Given the description of an element on the screen output the (x, y) to click on. 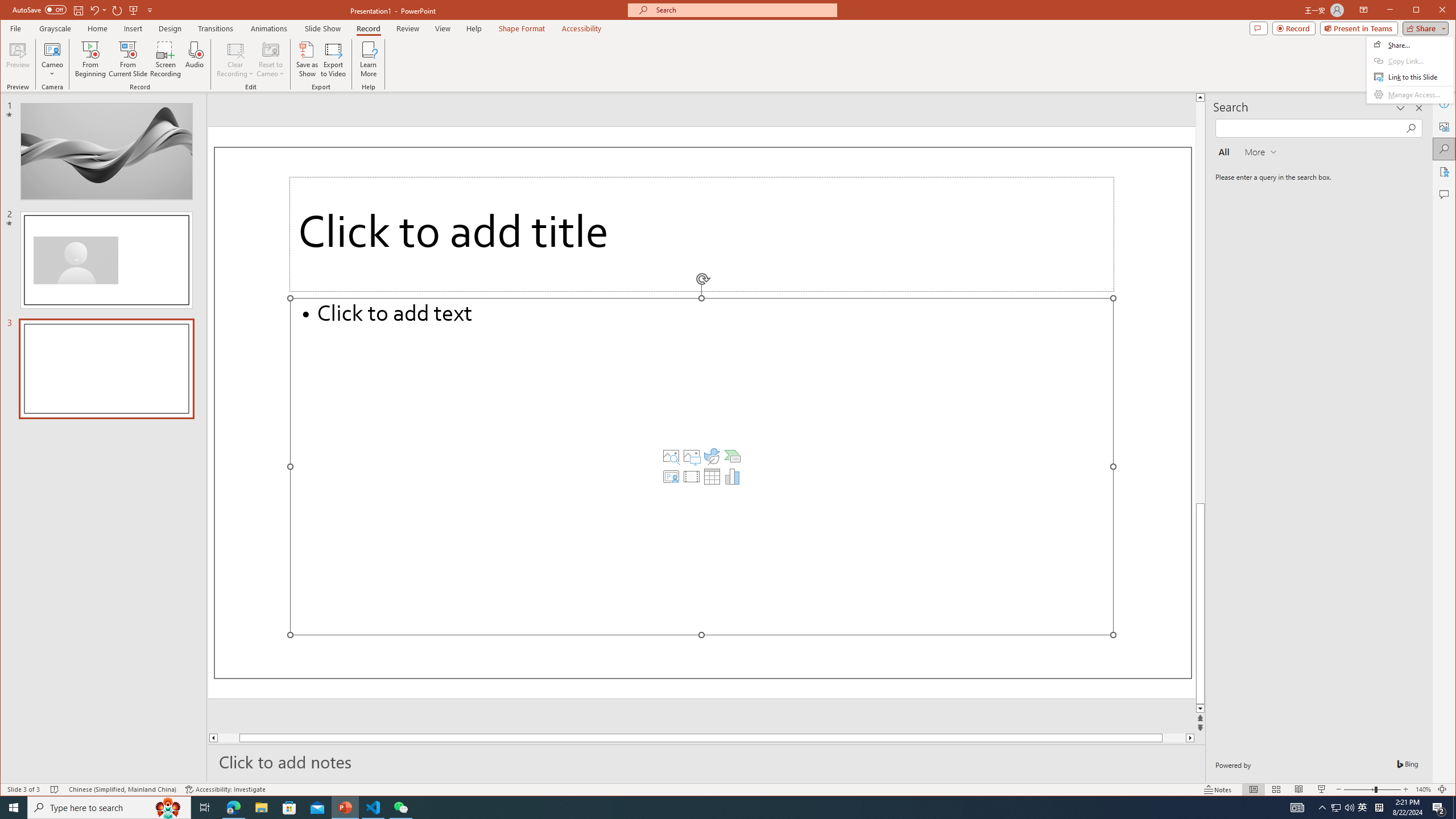
Insert Chart (732, 476)
Insert Table (711, 476)
